Given the description of an element on the screen output the (x, y) to click on. 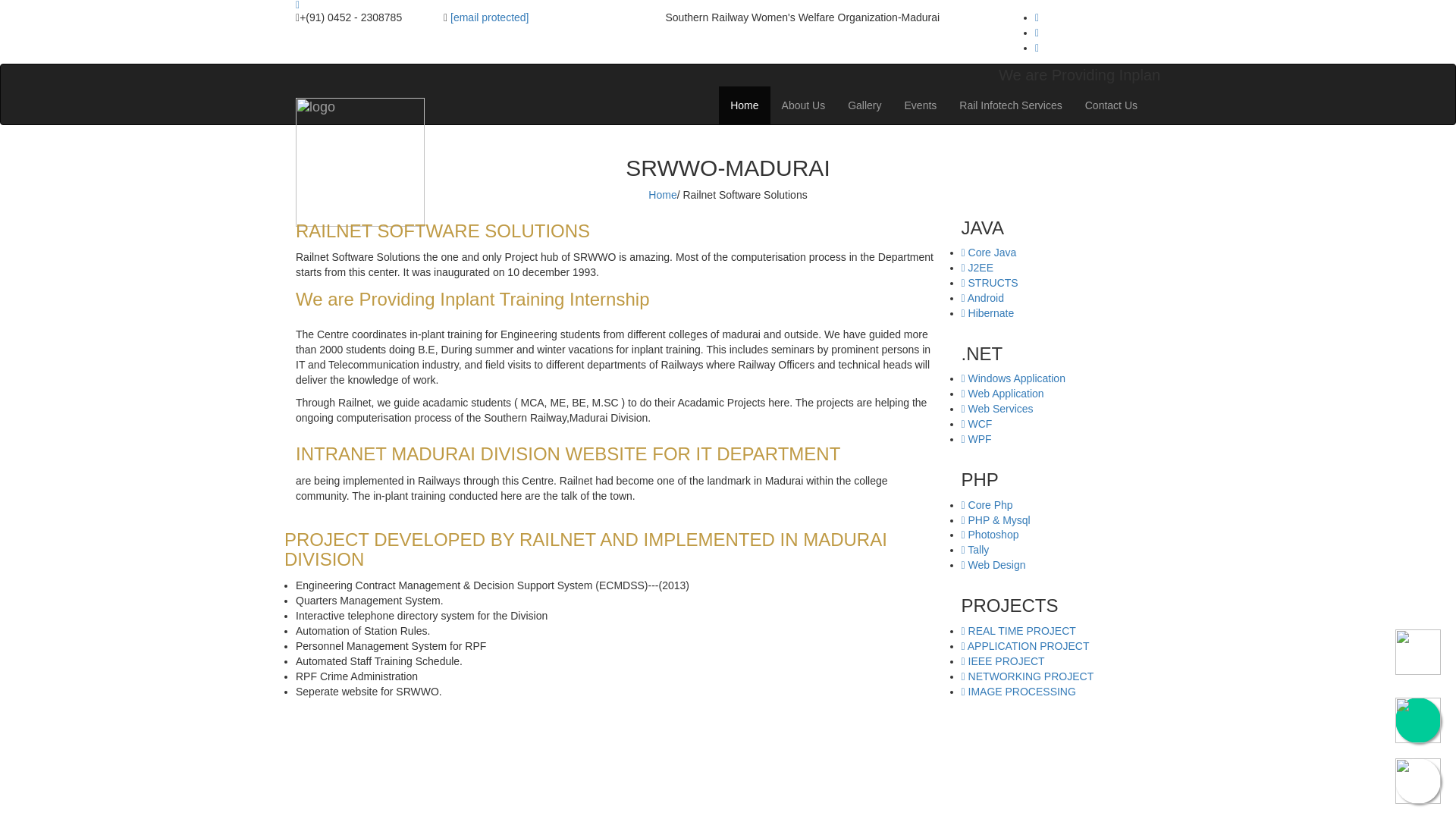
Events (921, 105)
Home (664, 194)
Core Java (988, 252)
IEEE PROJECT (1002, 661)
About Us (803, 105)
Tally (975, 549)
Hibernate (987, 313)
Rail Infotech Services (1010, 105)
WPF (975, 439)
Web Design (993, 564)
